Given the description of an element on the screen output the (x, y) to click on. 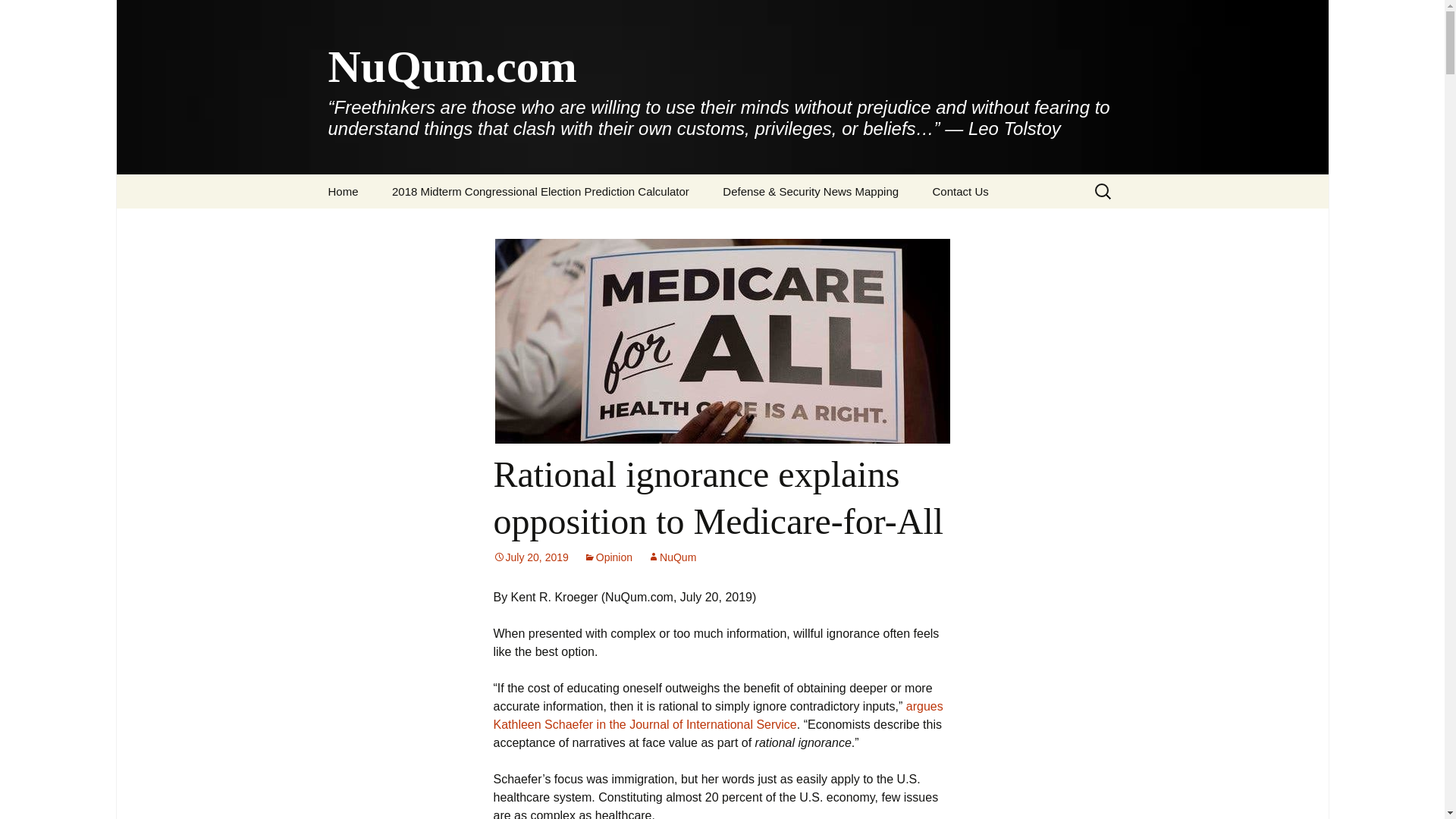
NuQum (671, 557)
About NuQum.com (388, 225)
Contact Us (960, 191)
Home (342, 191)
Search (18, 15)
Opinion (607, 557)
